Given the description of an element on the screen output the (x, y) to click on. 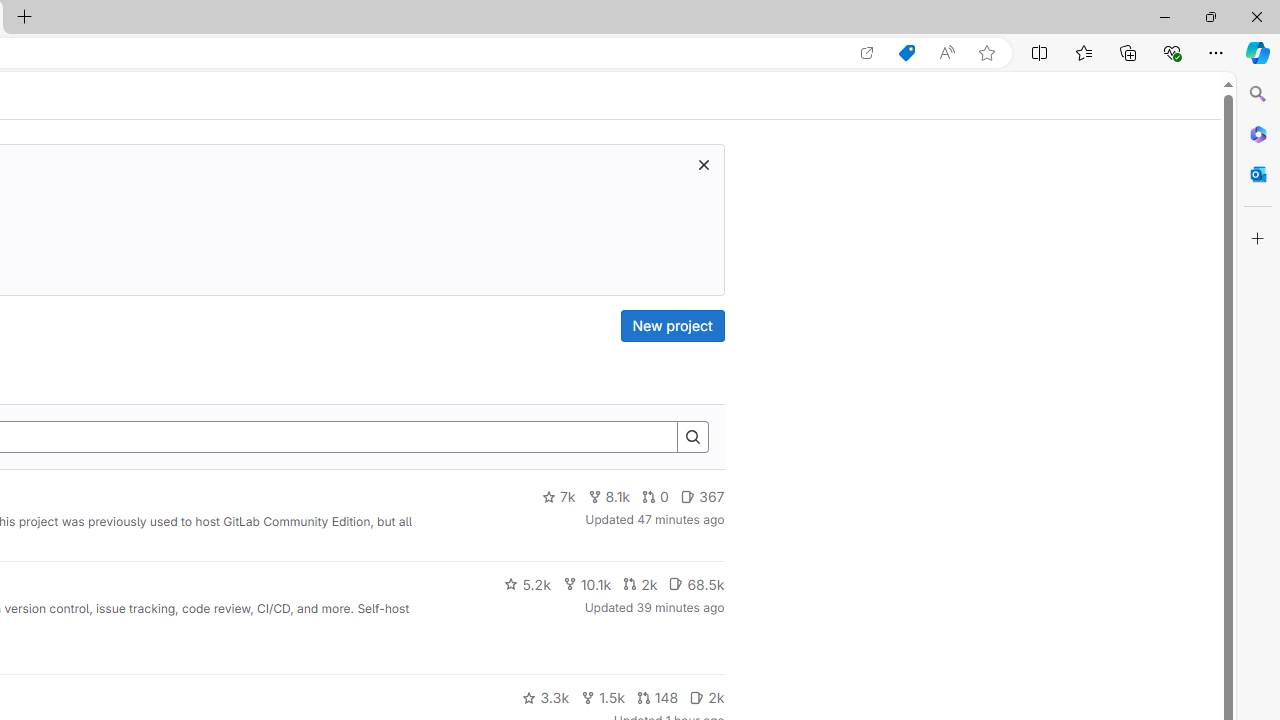
Dismiss trial promotion (703, 164)
0 (655, 497)
Open in app (867, 53)
5.2k (527, 583)
3.3k (545, 697)
10.1k (586, 583)
148 (657, 697)
7k (558, 497)
2k (706, 697)
8.1k (609, 497)
68.5k (696, 583)
